Given the description of an element on the screen output the (x, y) to click on. 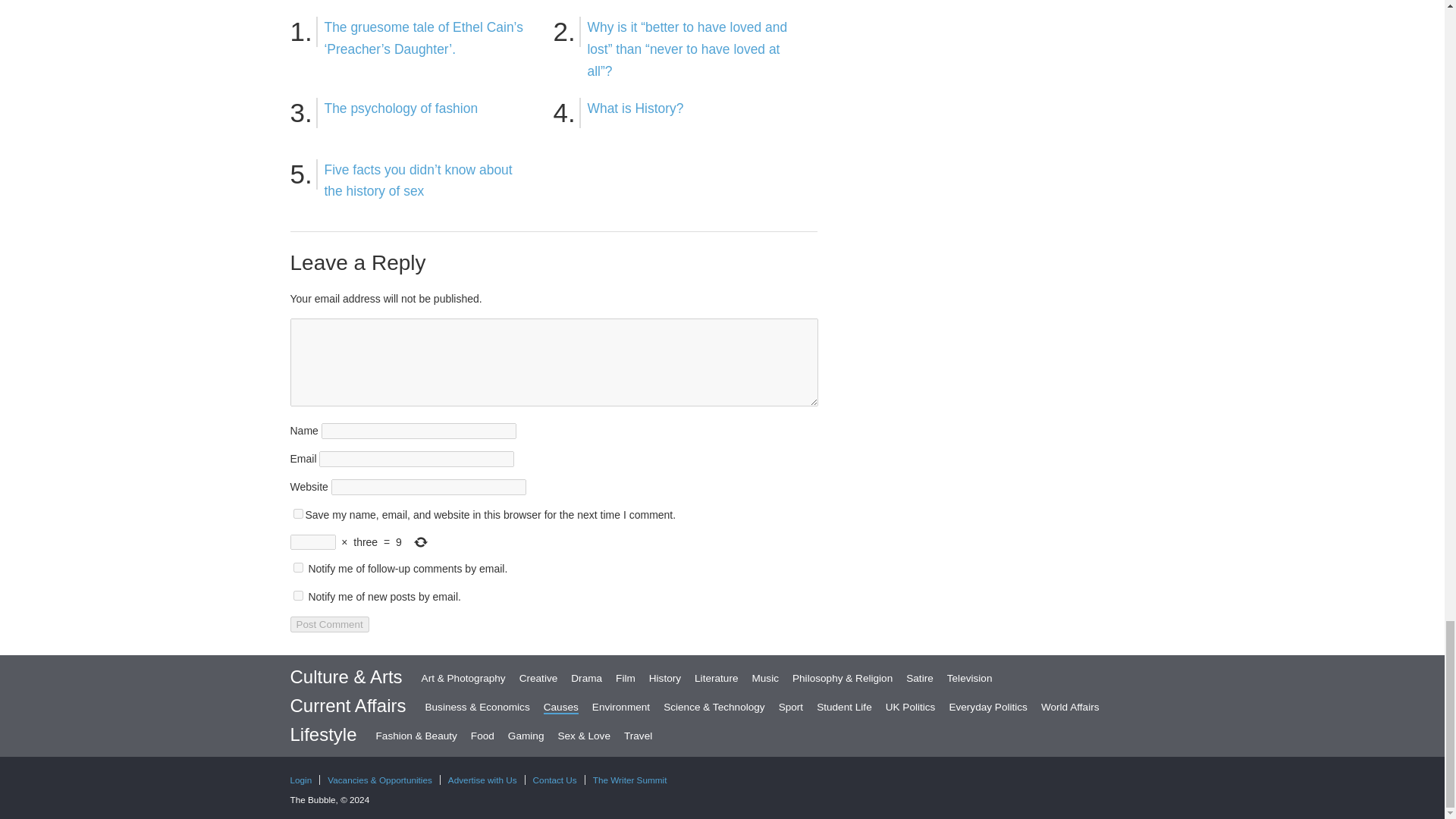
The psychology of fashion (401, 108)
Post Comment (328, 624)
What is History? (634, 108)
yes (297, 513)
What is History? (634, 108)
subscribe (297, 567)
Post Comment (328, 624)
The psychology of fashion (401, 108)
subscribe (297, 595)
